Given the description of an element on the screen output the (x, y) to click on. 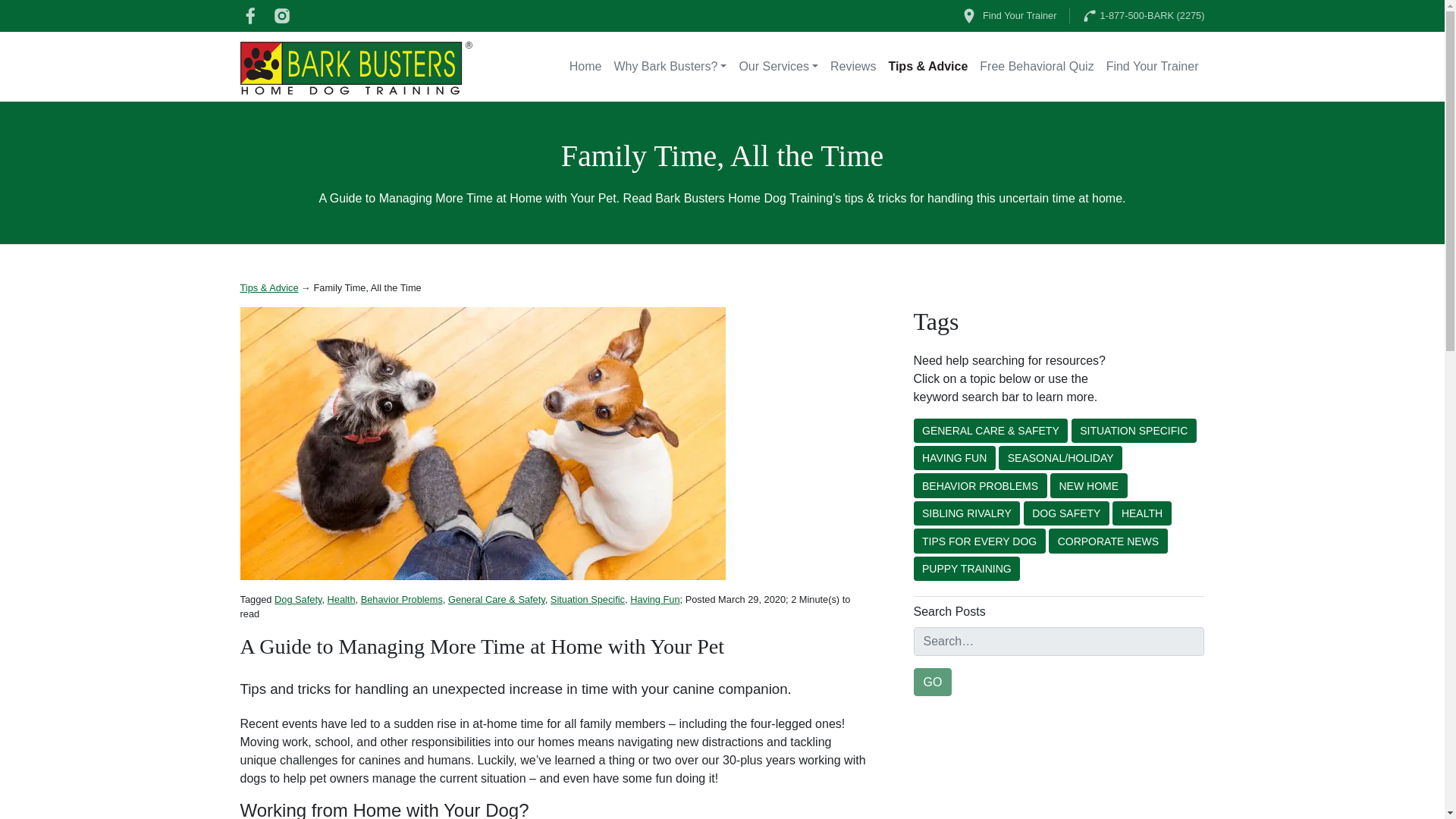
SITUATION SPECIFIC (1133, 430)
Go (932, 682)
Health (341, 599)
Dog Safety (298, 599)
Situation Specific (587, 599)
Dog Safety (298, 599)
Having Fun (953, 457)
Situation Specific (587, 599)
Behavior Problems (401, 599)
Home (585, 66)
